Given the description of an element on the screen output the (x, y) to click on. 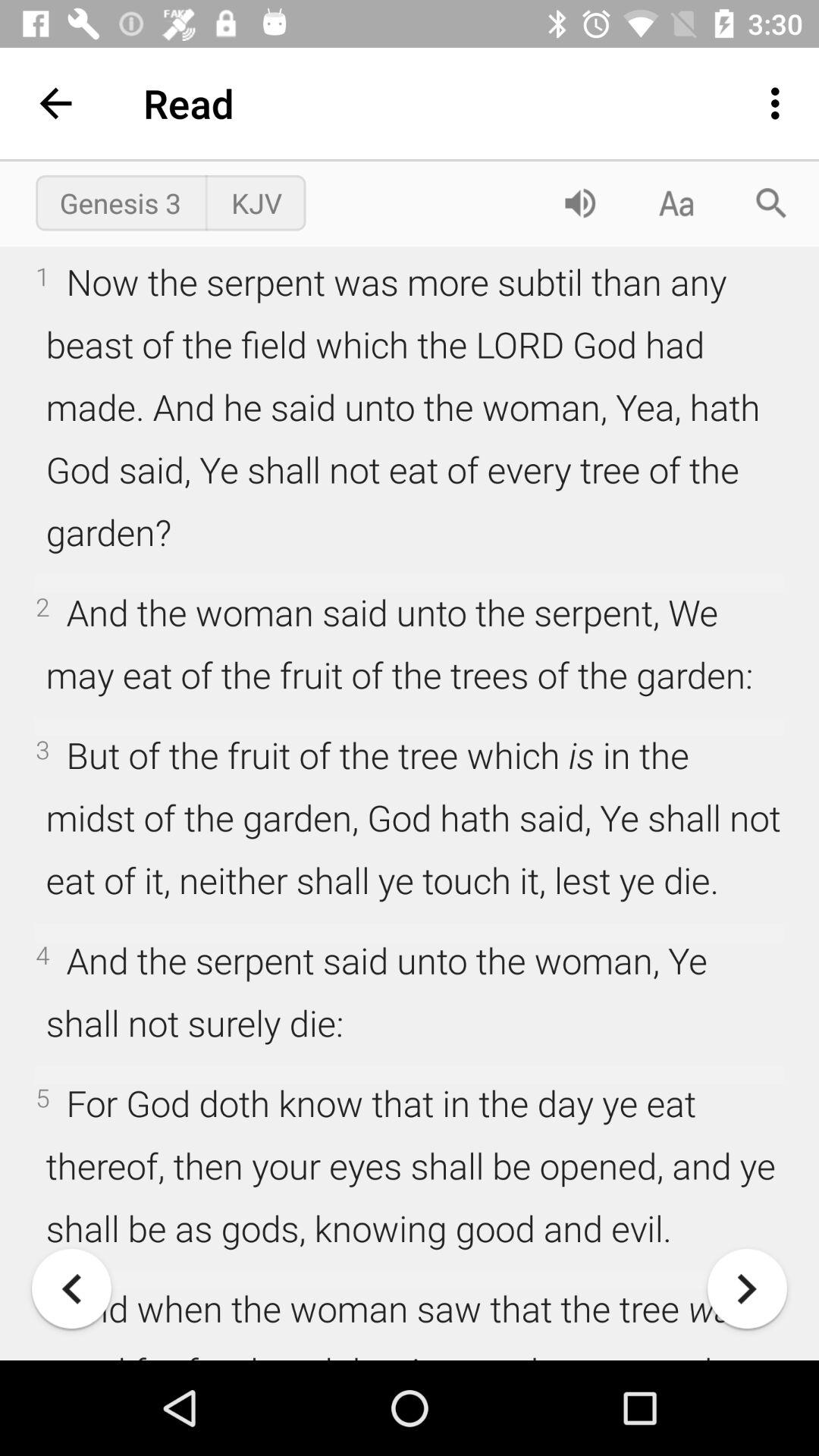
open genesis 3 item (120, 202)
